Given the description of an element on the screen output the (x, y) to click on. 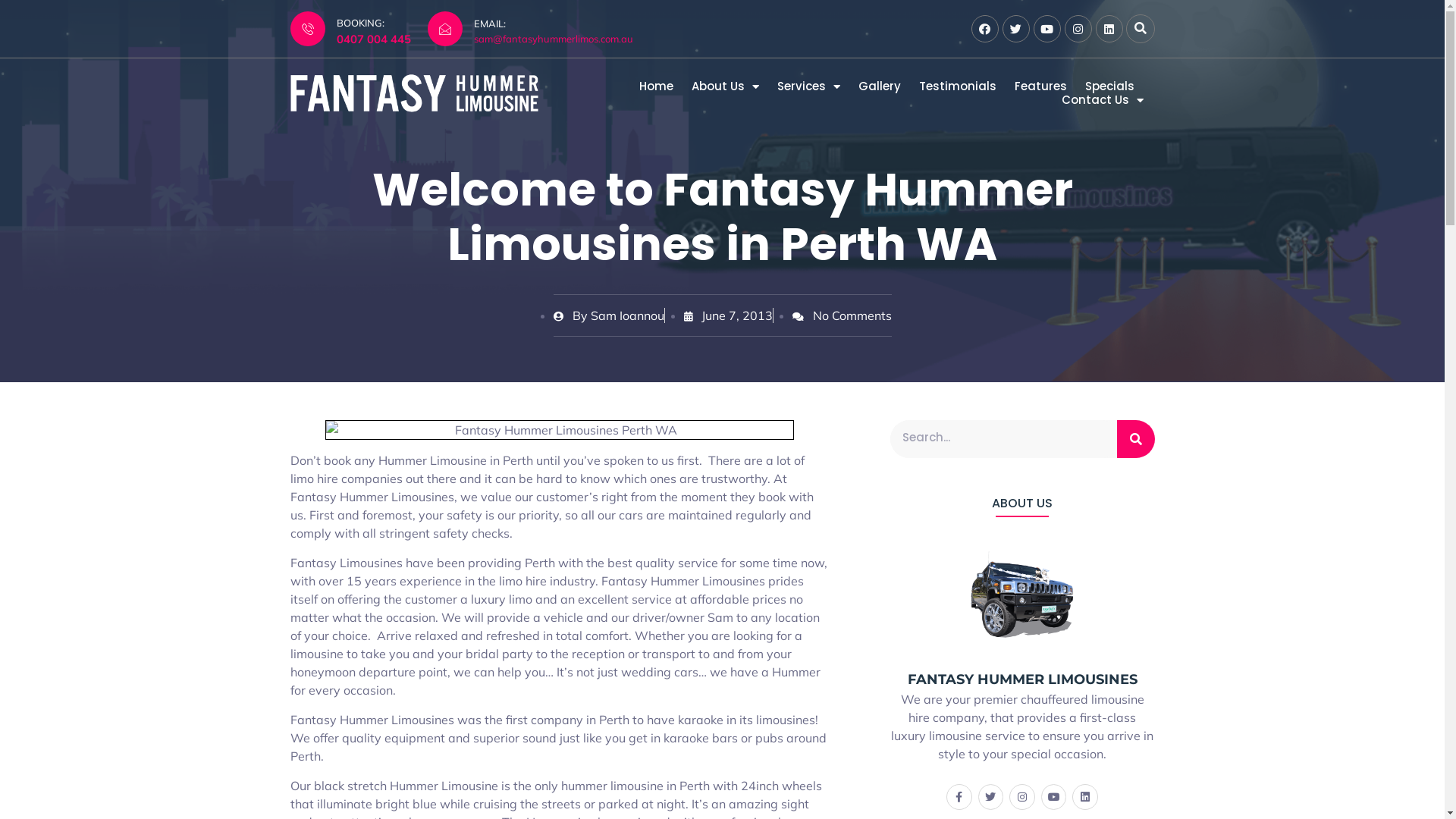
Testimonials Element type: text (957, 86)
No Comments Element type: text (841, 315)
About Us Element type: text (725, 86)
Search Element type: hover (1135, 439)
0407 004 445 Element type: text (373, 38)
sam@fantasyhummerlimos.com.au Element type: text (552, 38)
June 7, 2013 Element type: text (728, 315)
Features Element type: text (1040, 86)
Services Element type: text (807, 86)
Home Element type: text (655, 86)
Gallery Element type: text (879, 86)
By Sam Ioannou Element type: text (608, 315)
Specials Element type: text (1108, 86)
Search Element type: hover (1003, 439)
Contact Us Element type: text (1102, 99)
